Given the description of an element on the screen output the (x, y) to click on. 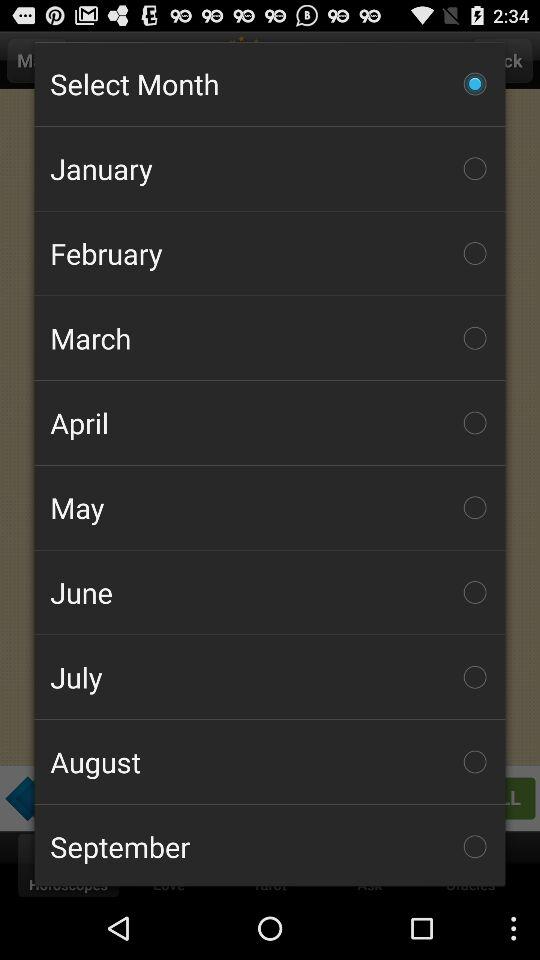
click march (269, 338)
